Given the description of an element on the screen output the (x, y) to click on. 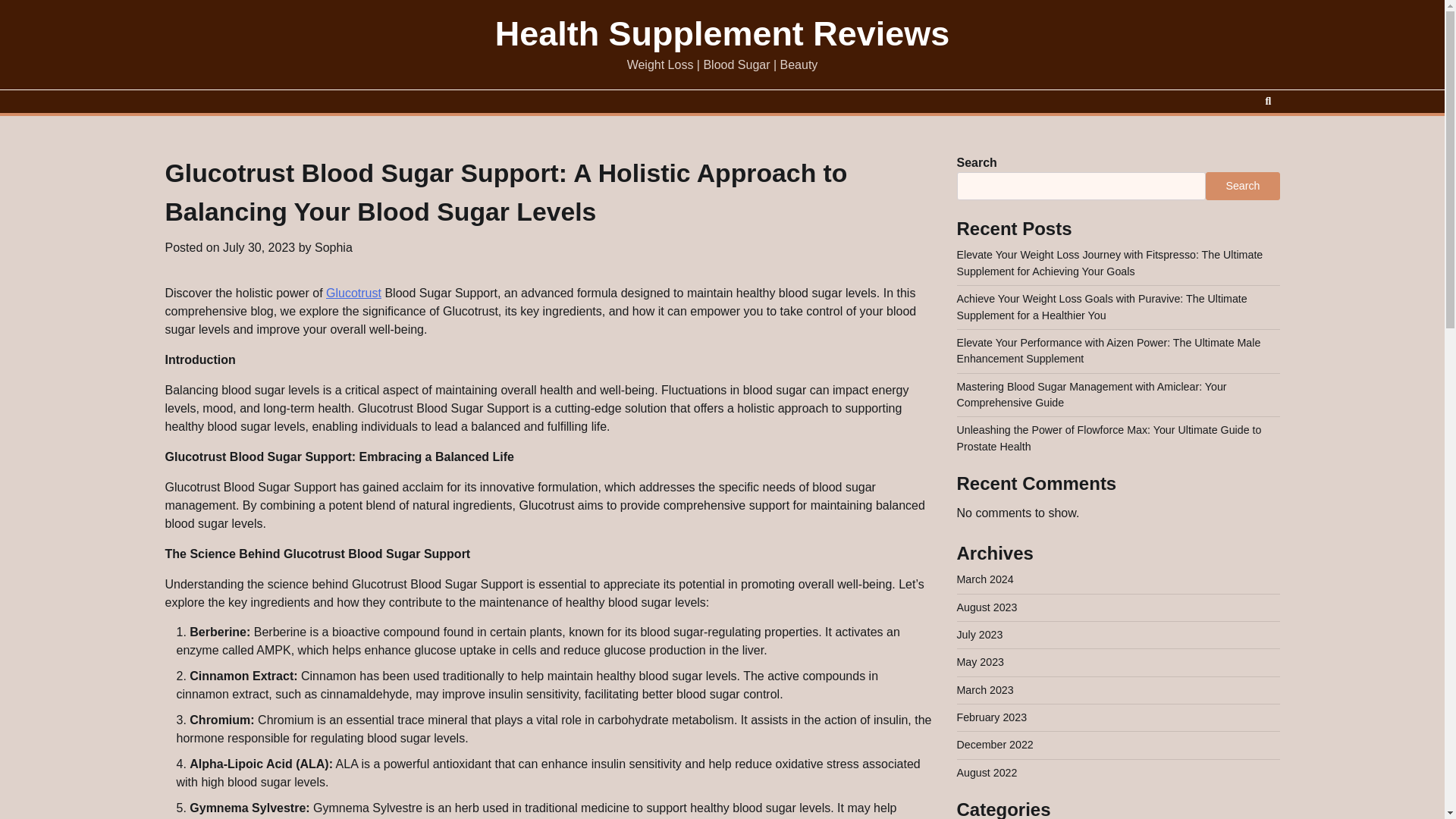
March 2023 (984, 689)
Search (1242, 185)
Sophia (333, 246)
July 30, 2023 (258, 246)
May 2023 (980, 662)
Glucotrust (353, 292)
July 2023 (979, 634)
August 2022 (986, 772)
December 2022 (994, 744)
August 2023 (986, 607)
March 2024 (984, 579)
